Given the description of an element on the screen output the (x, y) to click on. 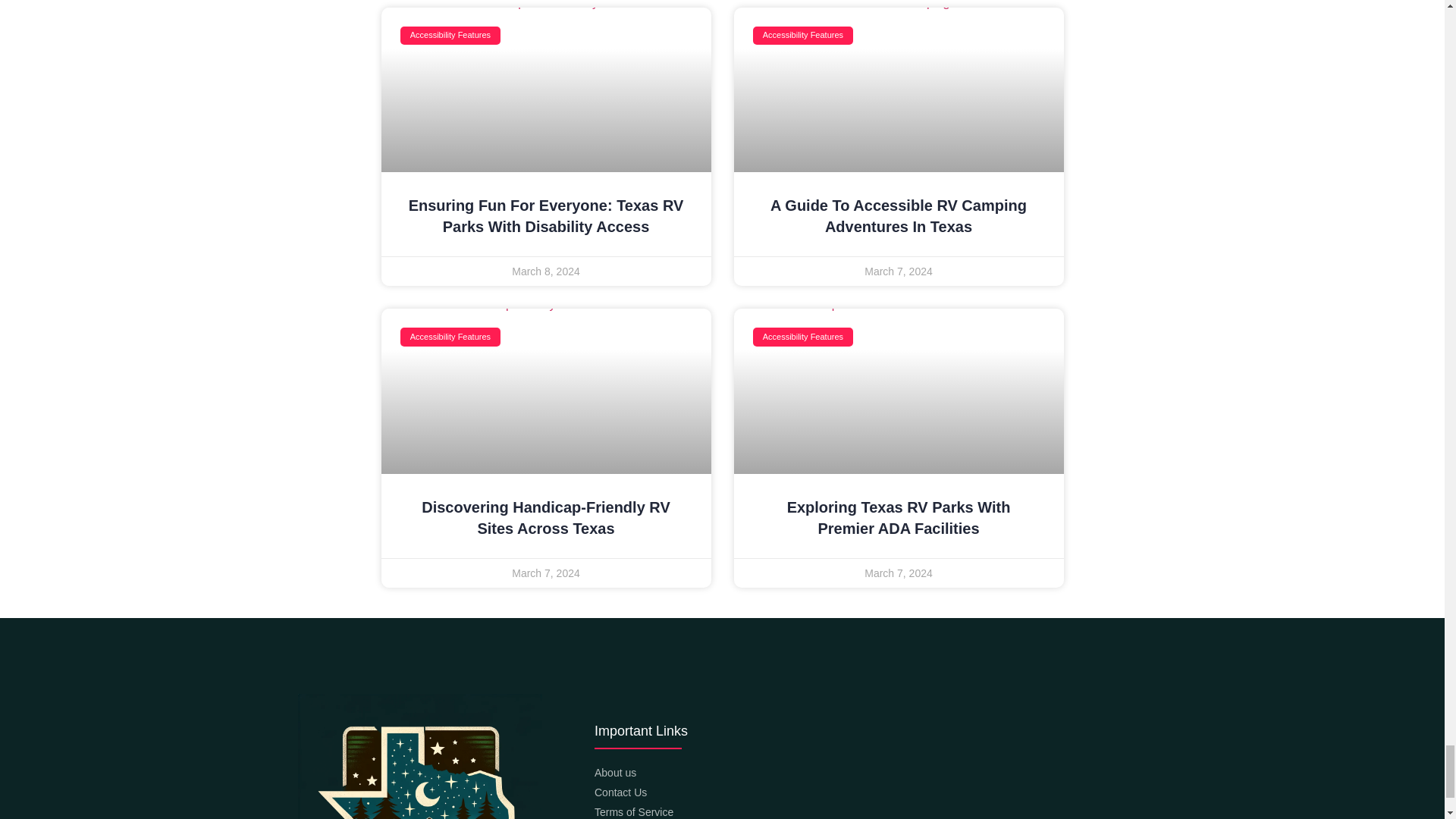
About us (851, 772)
Discovering Handicap-Friendly RV Sites Across Texas (545, 517)
Exploring Texas RV Parks With Premier ADA Facilities (898, 517)
A Guide To Accessible RV Camping Adventures In Texas (898, 216)
Contact Us (851, 792)
